Given the description of an element on the screen output the (x, y) to click on. 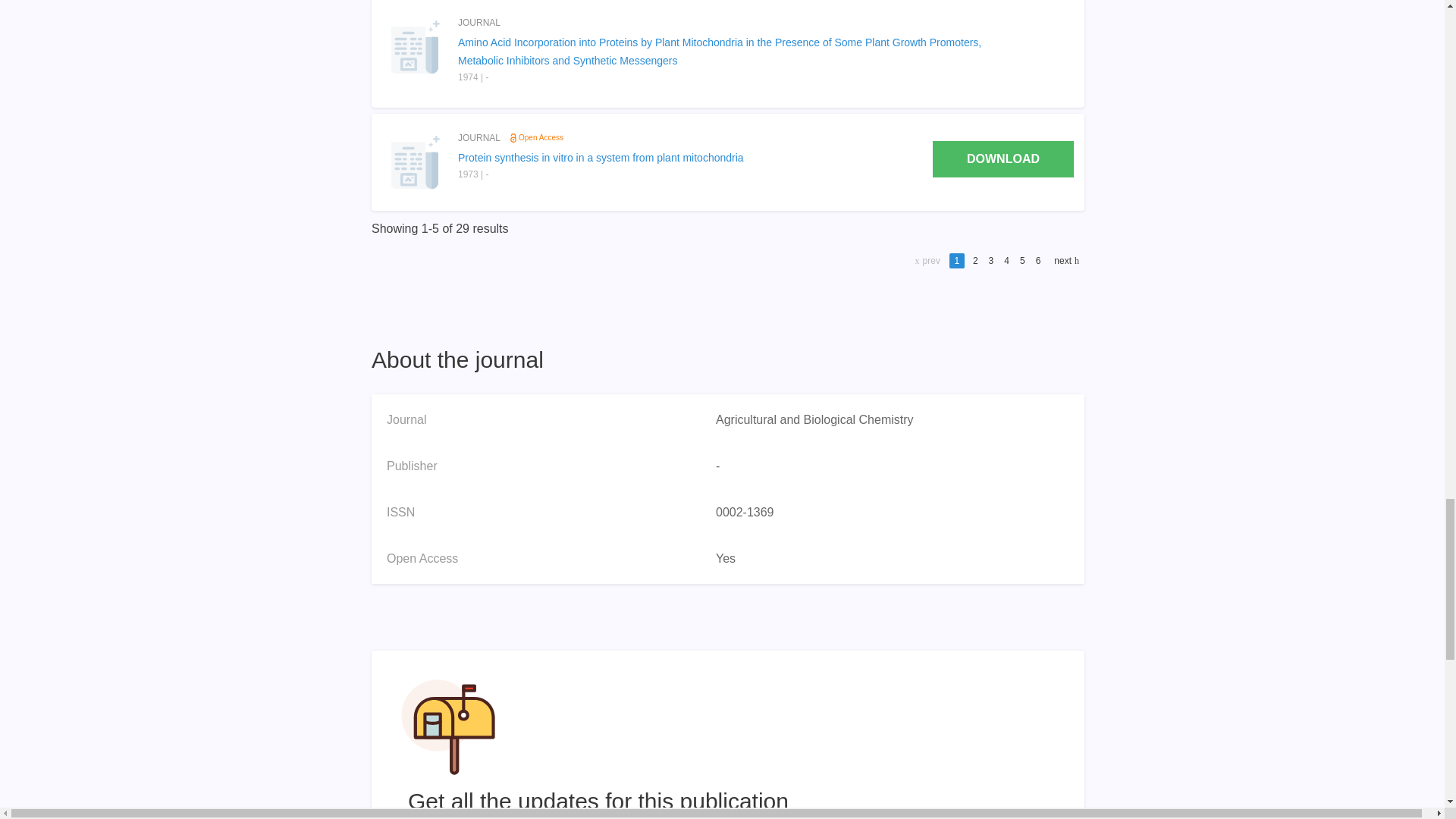
Subscribe form hero illustration (448, 727)
DOWNLOAD (1003, 158)
1 (956, 260)
next (1064, 260)
